Given the description of an element on the screen output the (x, y) to click on. 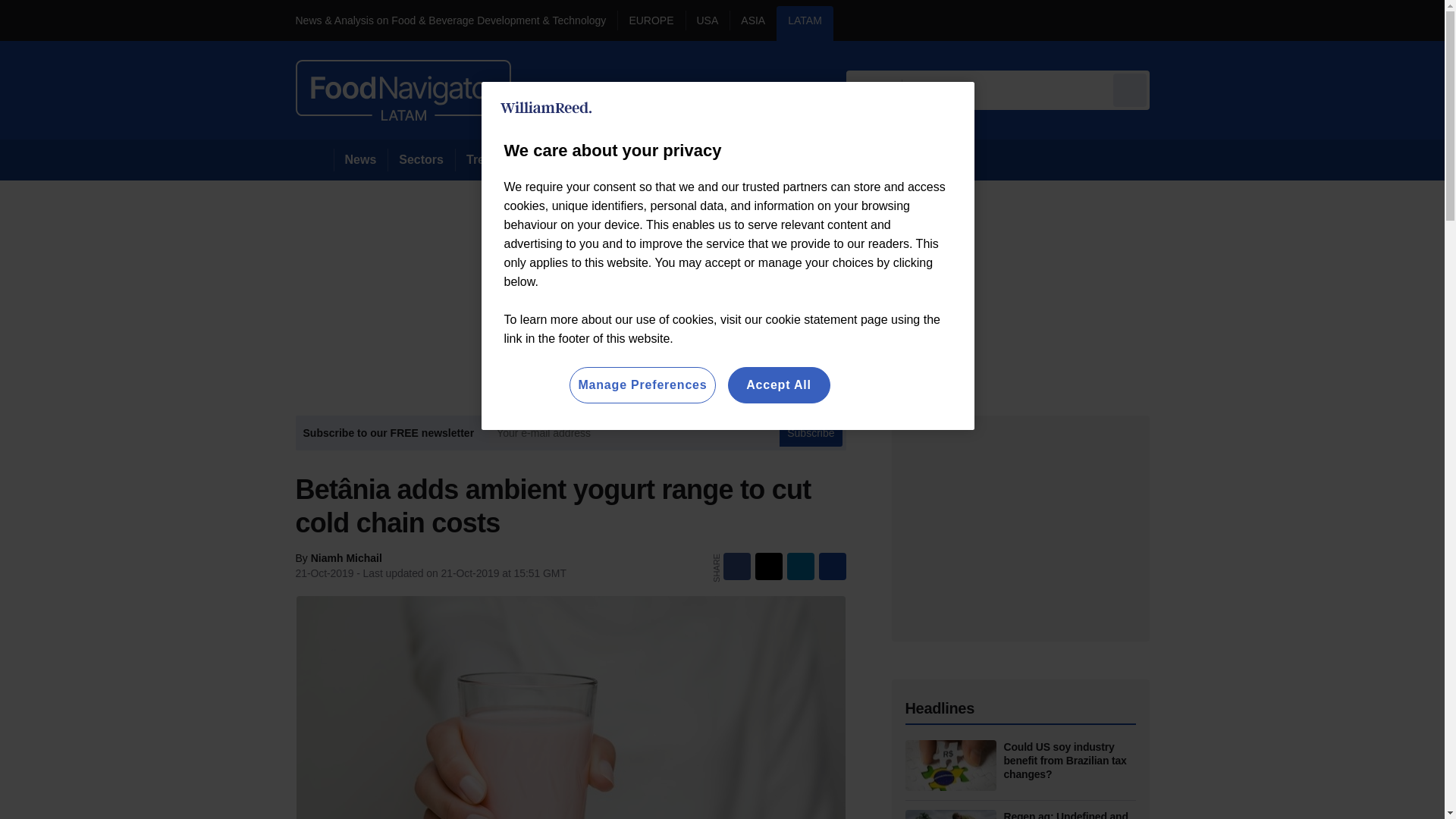
EUROPE (650, 22)
USA (707, 22)
FoodNavigator LATAM (403, 89)
Home (313, 159)
ASIA (752, 22)
Trends (485, 159)
News (360, 159)
Send (1129, 90)
Send (1129, 89)
3rd party ad content (1020, 528)
Sectors (420, 159)
William Reed (545, 107)
LATAM (804, 22)
Home (314, 159)
